Given the description of an element on the screen output the (x, y) to click on. 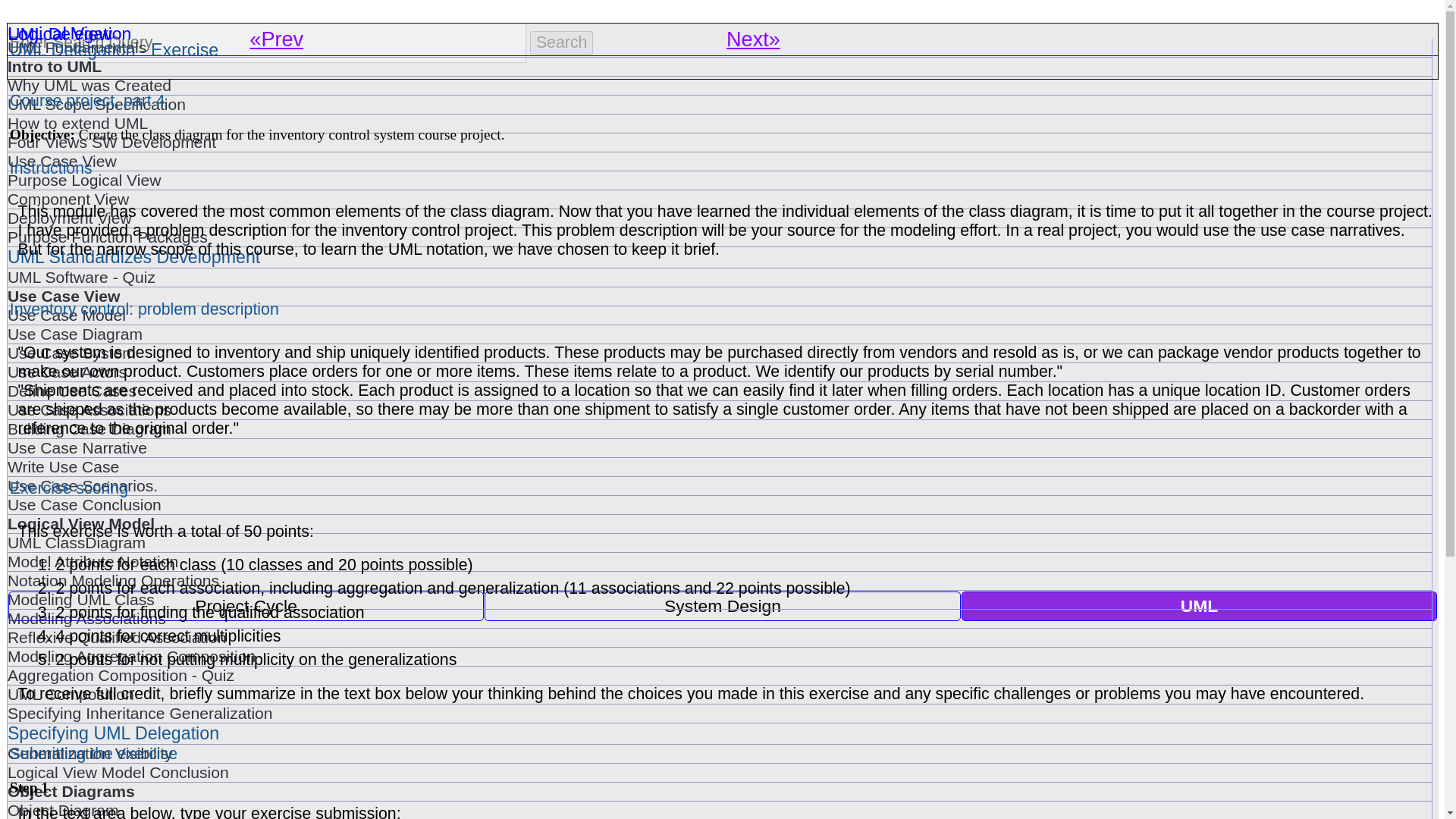
Reflexive Qualified Association (719, 637)
UML Standardizes Development (719, 257)
Purpose Function Packages (719, 237)
Use Case Actors (719, 372)
Use Case Associations (719, 410)
Use Case Model (719, 315)
UML Scope Specification (719, 104)
Notation Modeling Operations (719, 580)
Why UML was Created (719, 85)
SiteMap (65, 788)
